Given the description of an element on the screen output the (x, y) to click on. 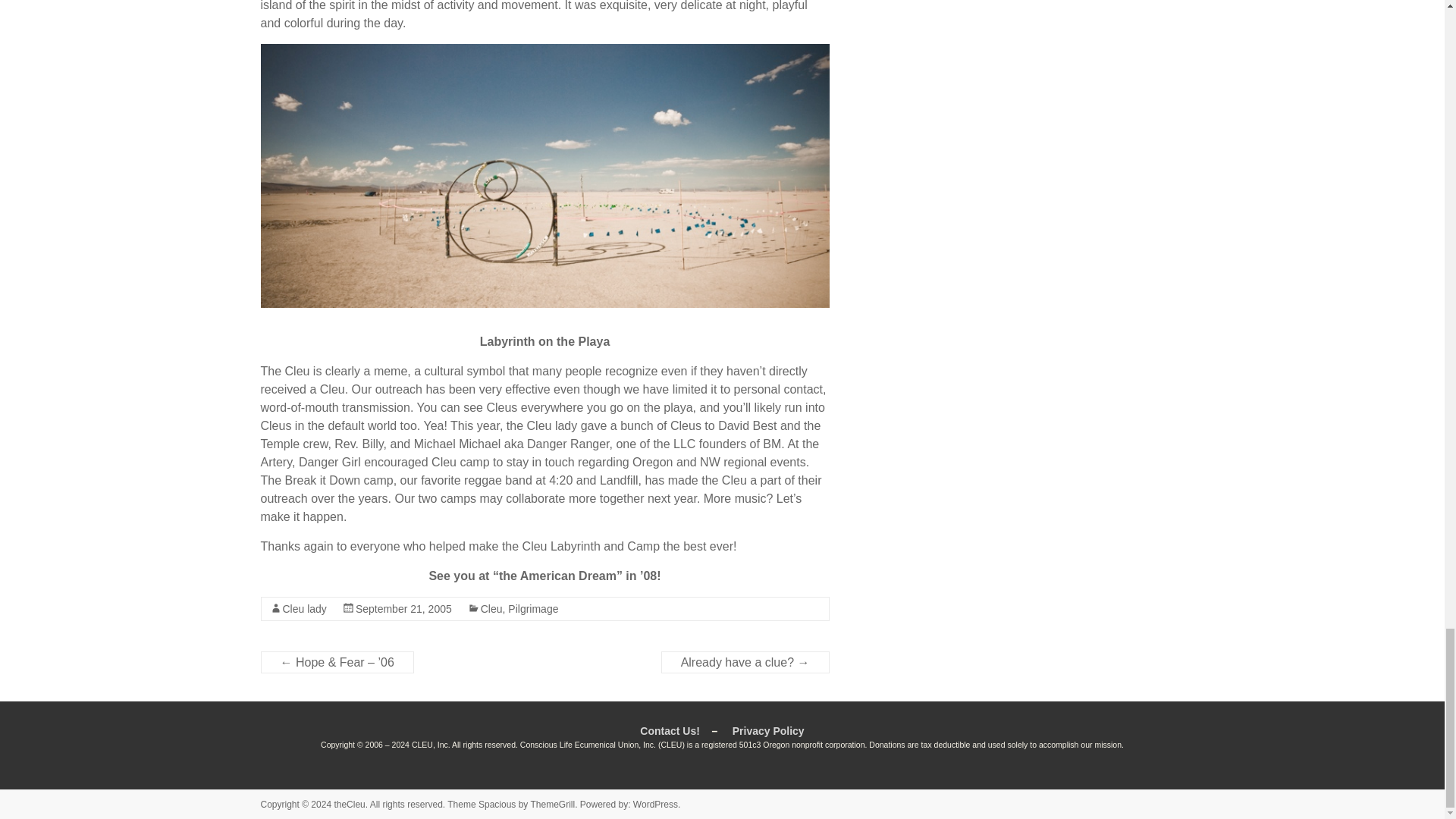
WordPress (655, 804)
5:48 am (403, 608)
Cleu lady (304, 608)
Pilgrimage (532, 608)
September 21, 2005 (403, 608)
theCleu (349, 804)
Spacious (497, 804)
Cleu (491, 608)
